Given the description of an element on the screen output the (x, y) to click on. 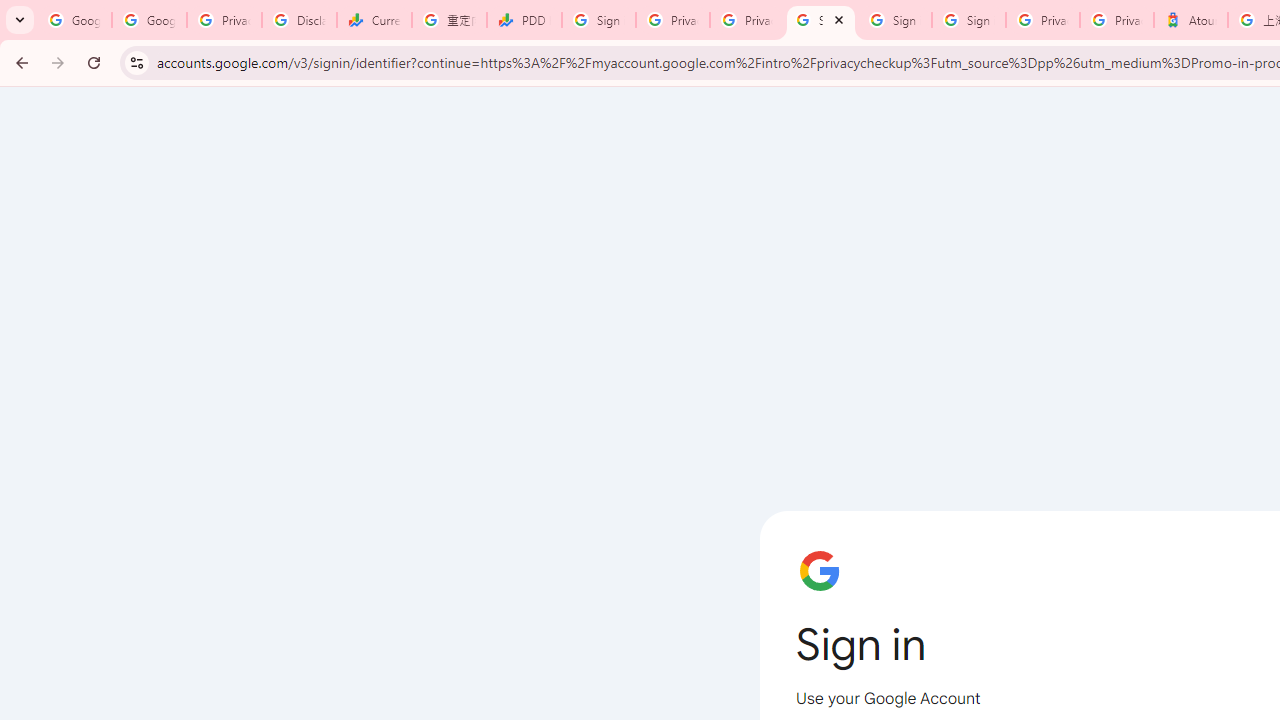
Privacy Checkup (747, 20)
Google Workspace Admin Community (74, 20)
Sign in - Google Accounts (820, 20)
Sign in - Google Accounts (598, 20)
Currencies - Google Finance (374, 20)
